Given the description of an element on the screen output the (x, y) to click on. 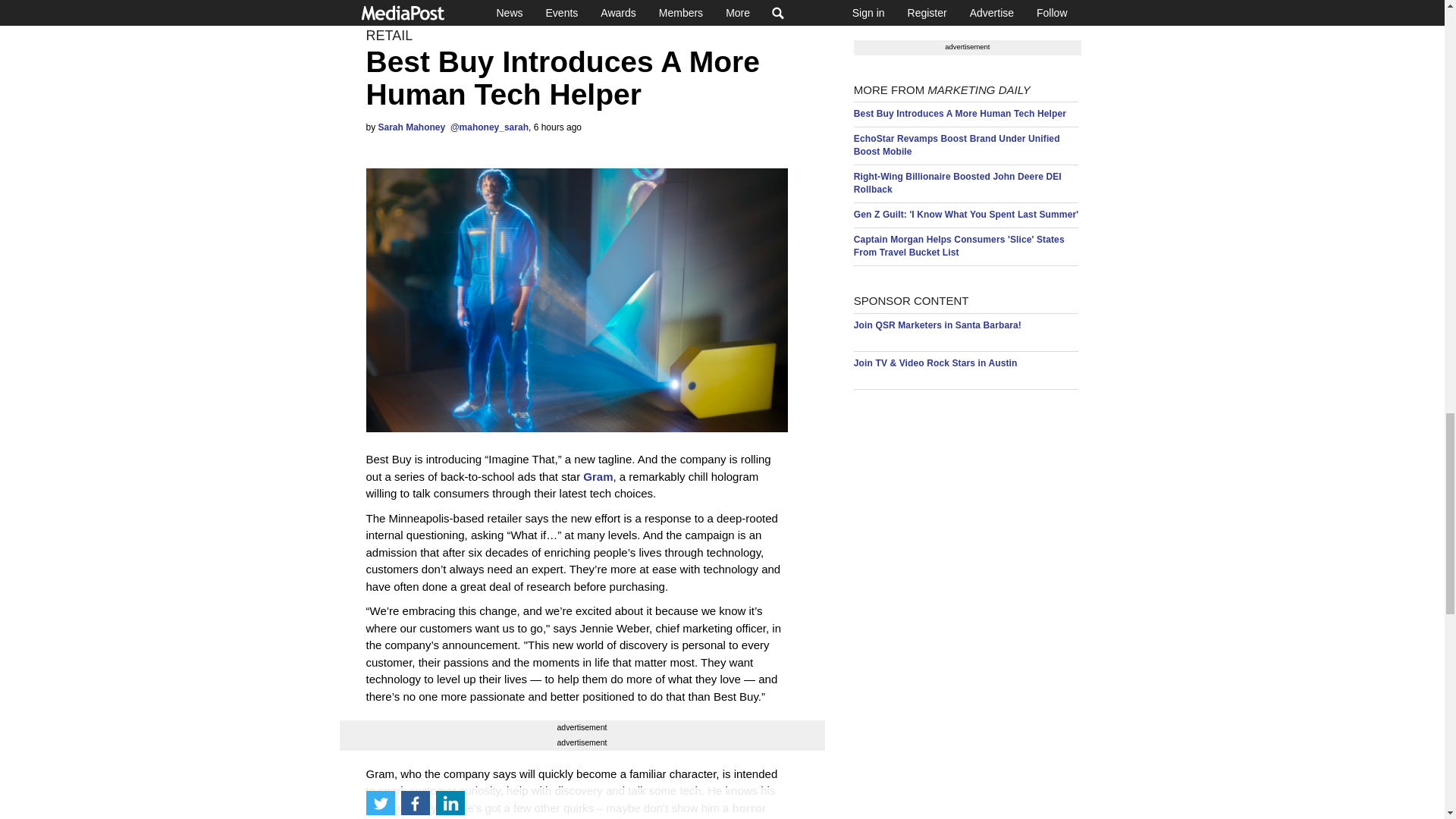
Subscribe (1046, 4)
